Given the description of an element on the screen output the (x, y) to click on. 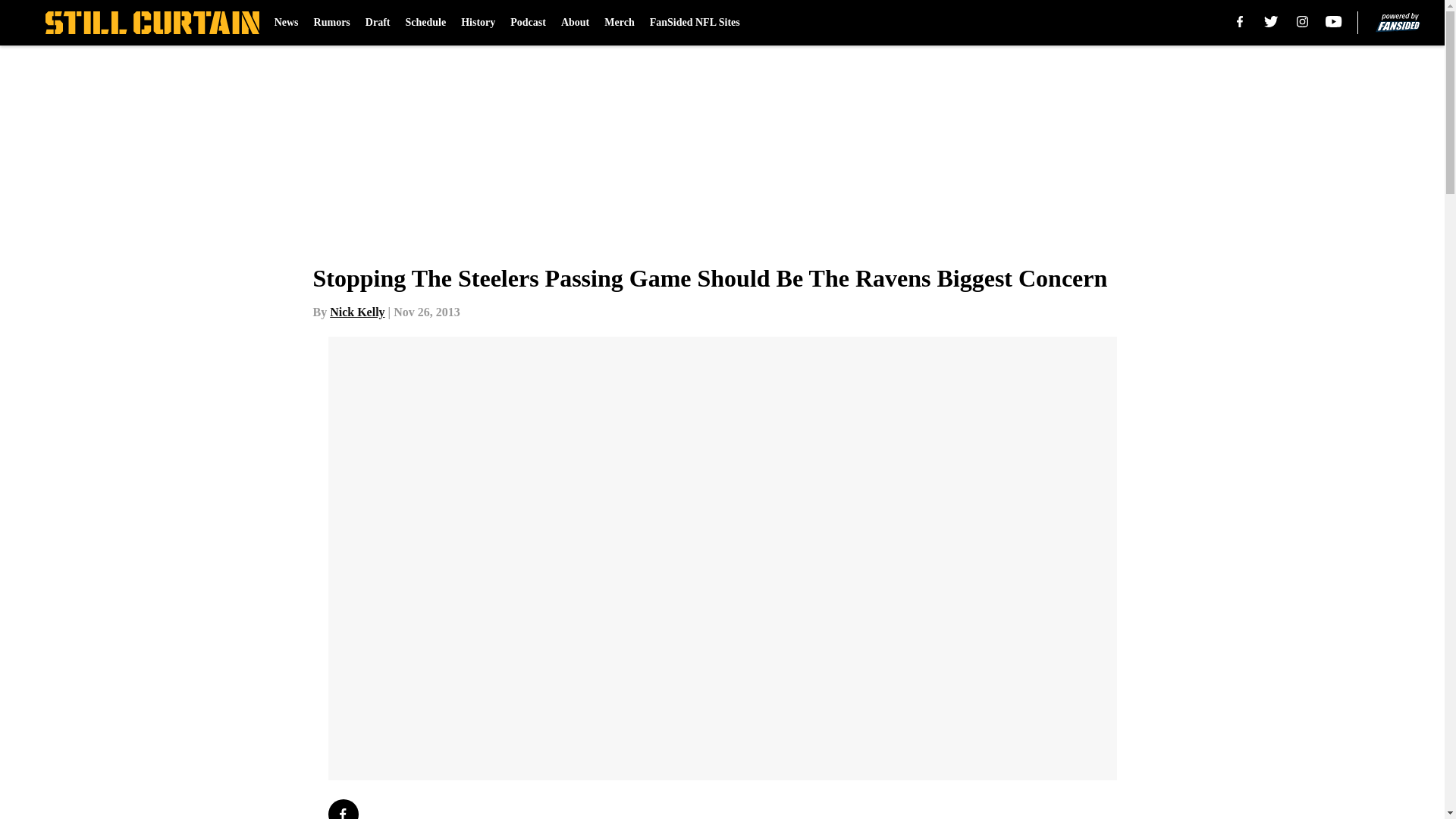
FanSided NFL Sites (694, 22)
Podcast (528, 22)
Rumors (332, 22)
Nick Kelly (357, 311)
Merch (618, 22)
Schedule (424, 22)
History (478, 22)
About (574, 22)
News (286, 22)
Draft (377, 22)
